Given the description of an element on the screen output the (x, y) to click on. 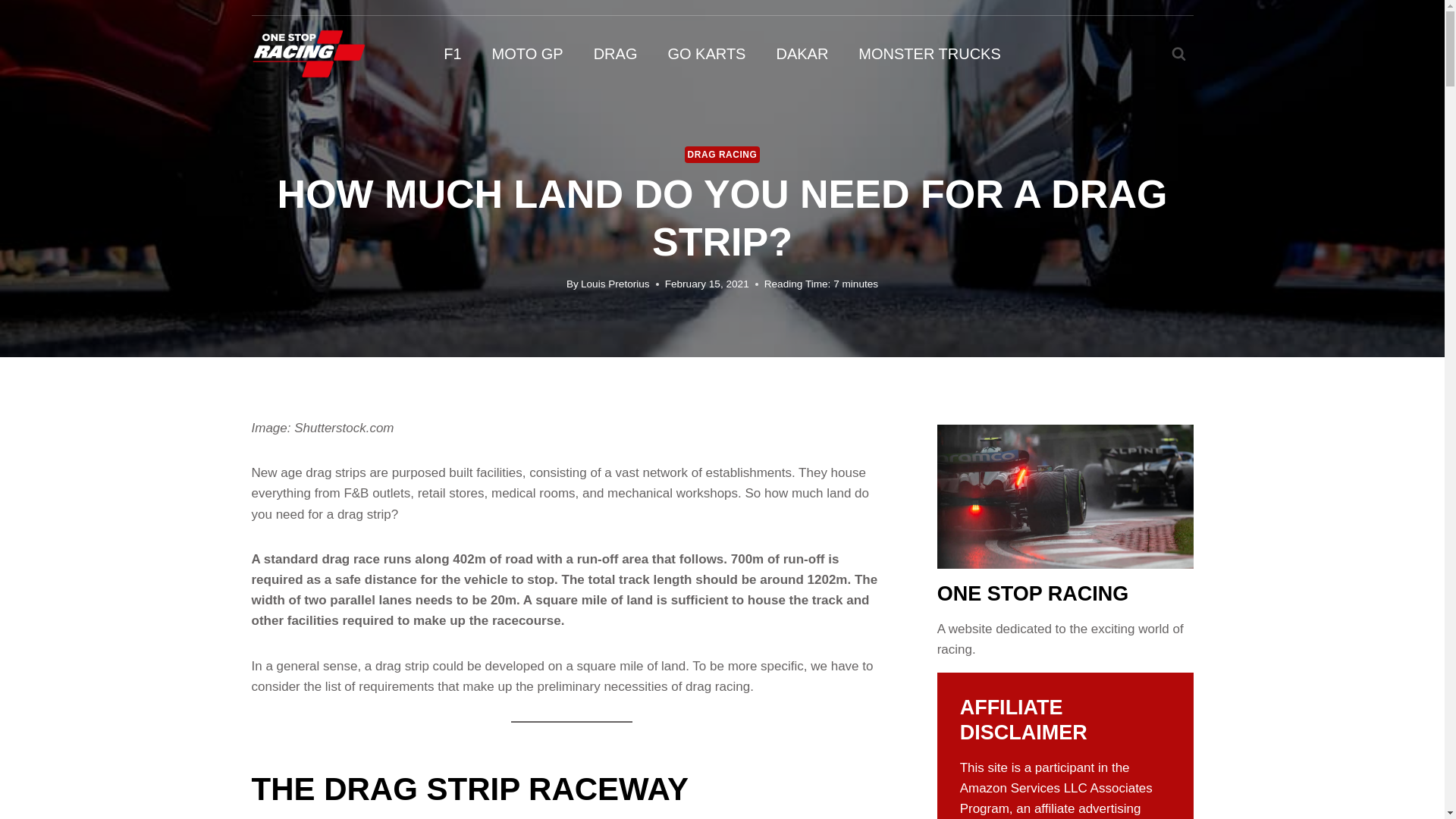
F1 (452, 53)
Louis Pretorius (614, 283)
DRAG (615, 53)
DAKAR (801, 53)
GO KARTS (706, 53)
MOTO GP (527, 53)
MONSTER TRUCKS (928, 53)
DRAG RACING (722, 154)
